Given the description of an element on the screen output the (x, y) to click on. 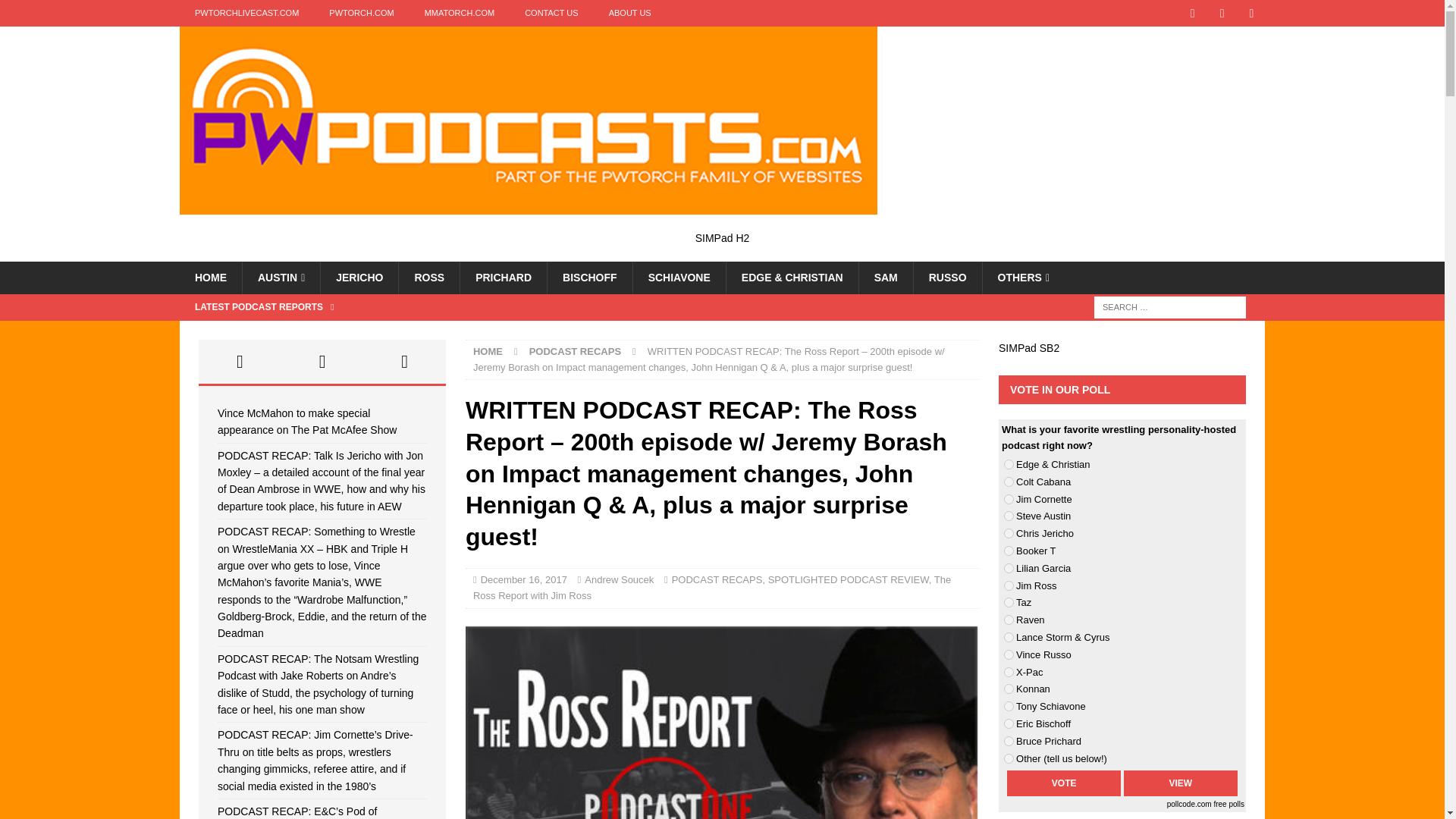
ROSS (428, 277)
6 (1008, 551)
4 (1008, 515)
8 (1008, 585)
PWTORCHLIVECAST.COM (246, 13)
11 (1008, 637)
RUSSO (946, 277)
ABOUT US (630, 13)
3 (1008, 499)
MMATORCH.COM (459, 13)
